Given the description of an element on the screen output the (x, y) to click on. 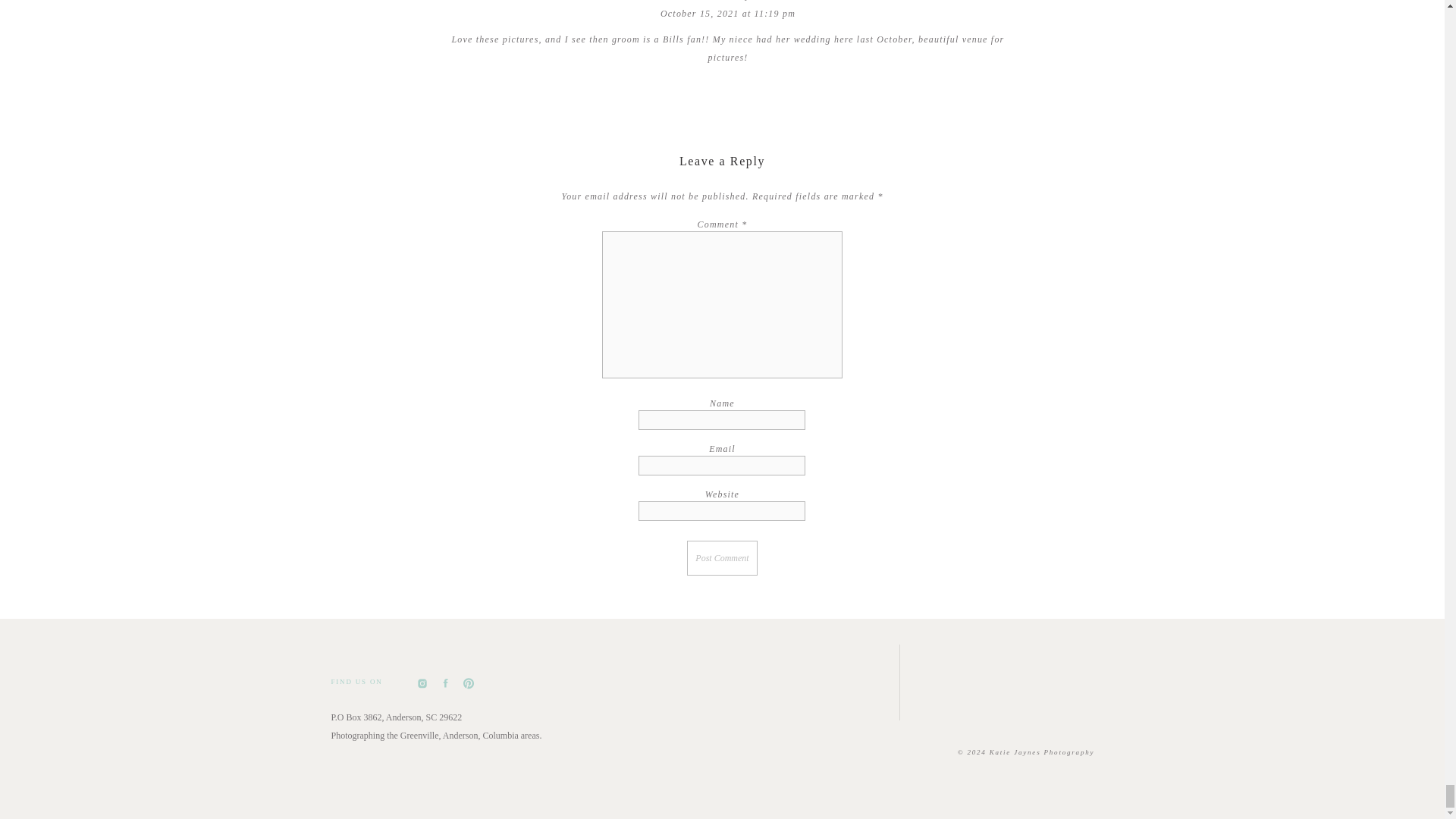
October 15, 2021 at 11:19 pm (727, 13)
Post Comment (722, 557)
Post Comment (722, 557)
